Given the description of an element on the screen output the (x, y) to click on. 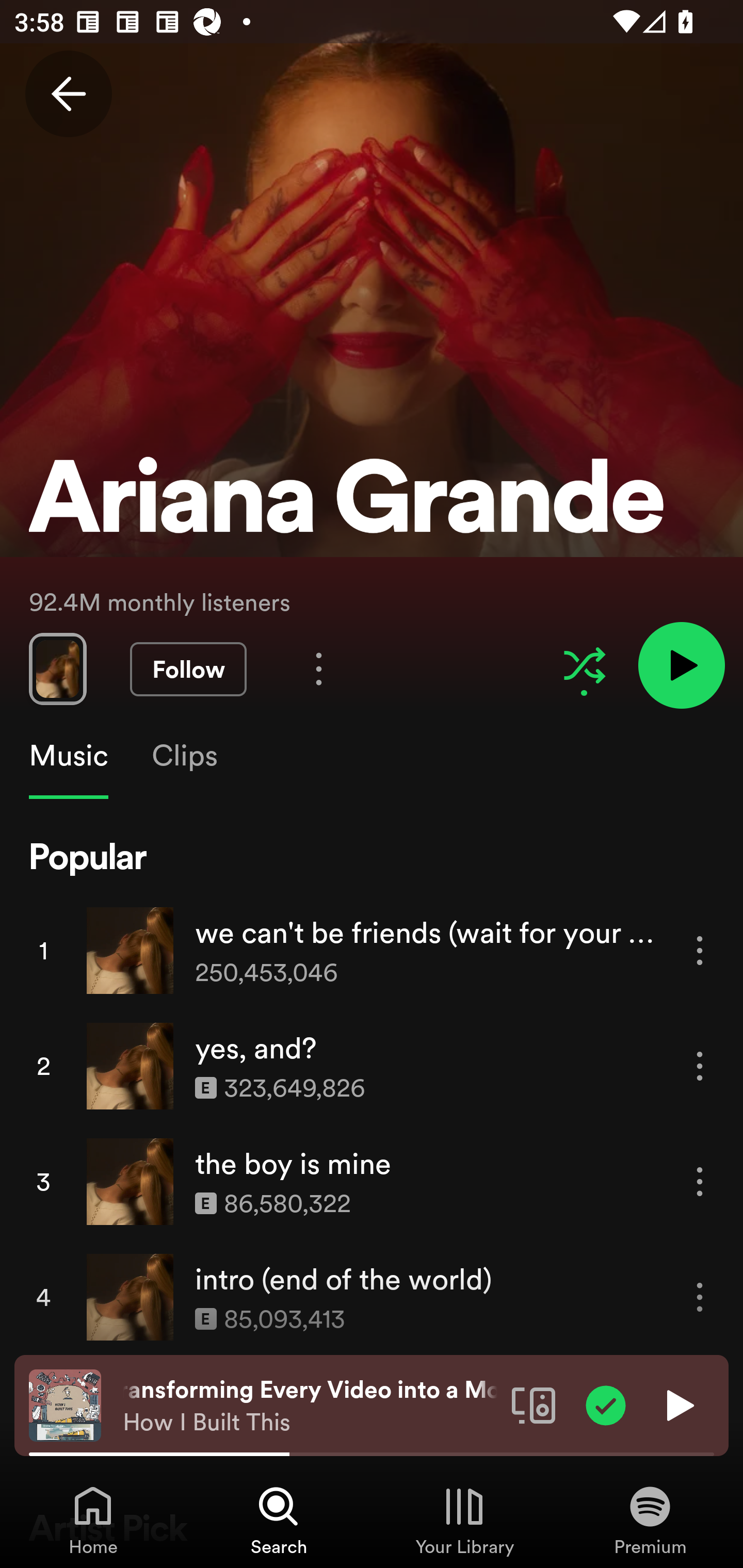
Back (68, 93)
Play artist (681, 664)
Disable shuffle for this artist (583, 665)
Swipe through previews of tracks from this artist. (57, 668)
More options for artist Ariana Grande (318, 668)
Follow (188, 669)
Clips (184, 755)
More options for song yes, and? (699, 1066)
More options for song the boy is mine (699, 1181)
More options for song intro (end of the world) (699, 1297)
The cover art of the currently playing track (64, 1404)
Connect to a device. Opens the devices menu (533, 1404)
Item added (605, 1404)
Play (677, 1404)
Home, Tab 1 of 4 Home Home (92, 1519)
Search, Tab 2 of 4 Search Search (278, 1519)
Your Library, Tab 3 of 4 Your Library Your Library (464, 1519)
Premium, Tab 4 of 4 Premium Premium (650, 1519)
